Given the description of an element on the screen output the (x, y) to click on. 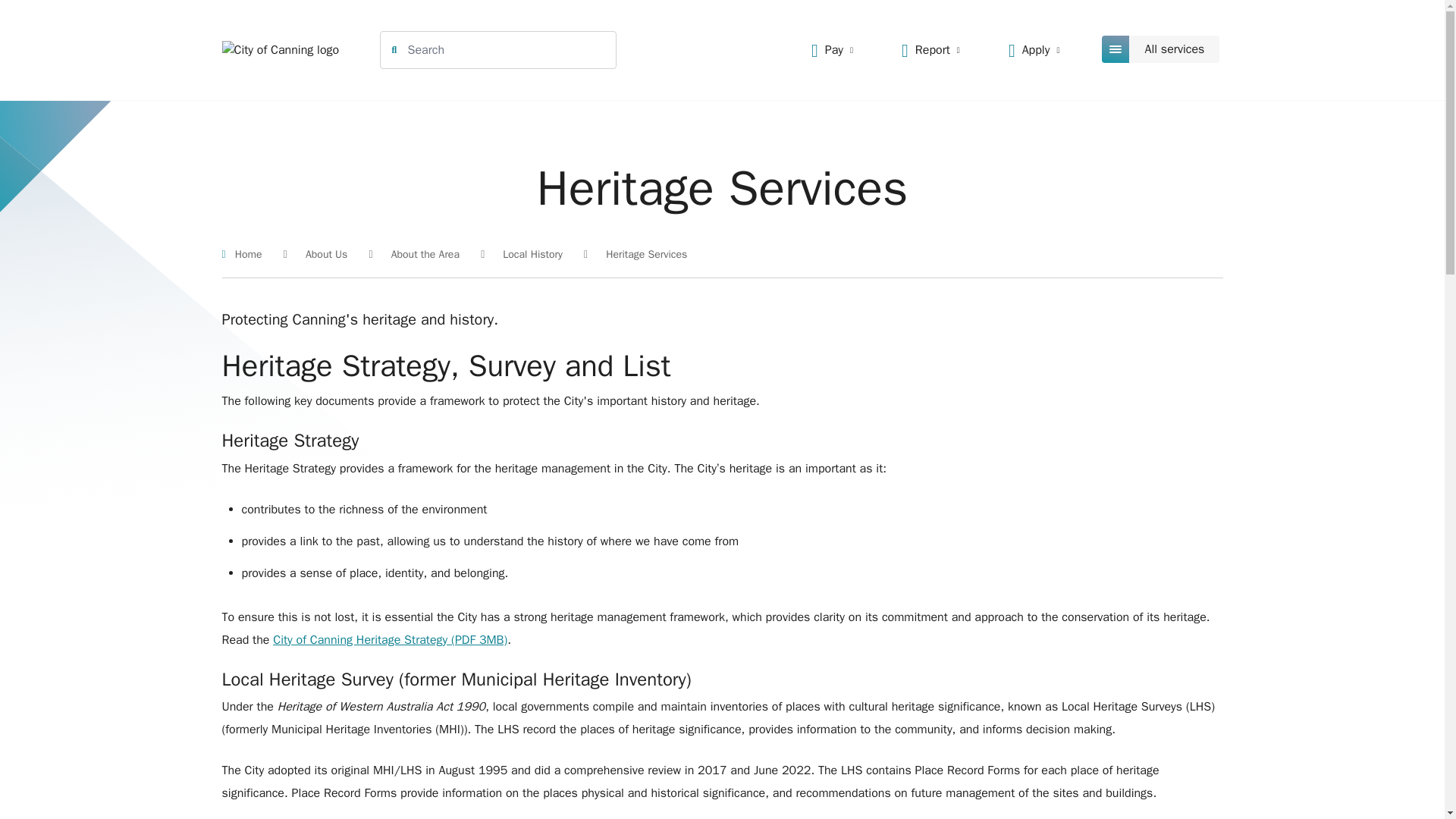
All services (1162, 49)
Heritage Strategy (389, 639)
